Given the description of an element on the screen output the (x, y) to click on. 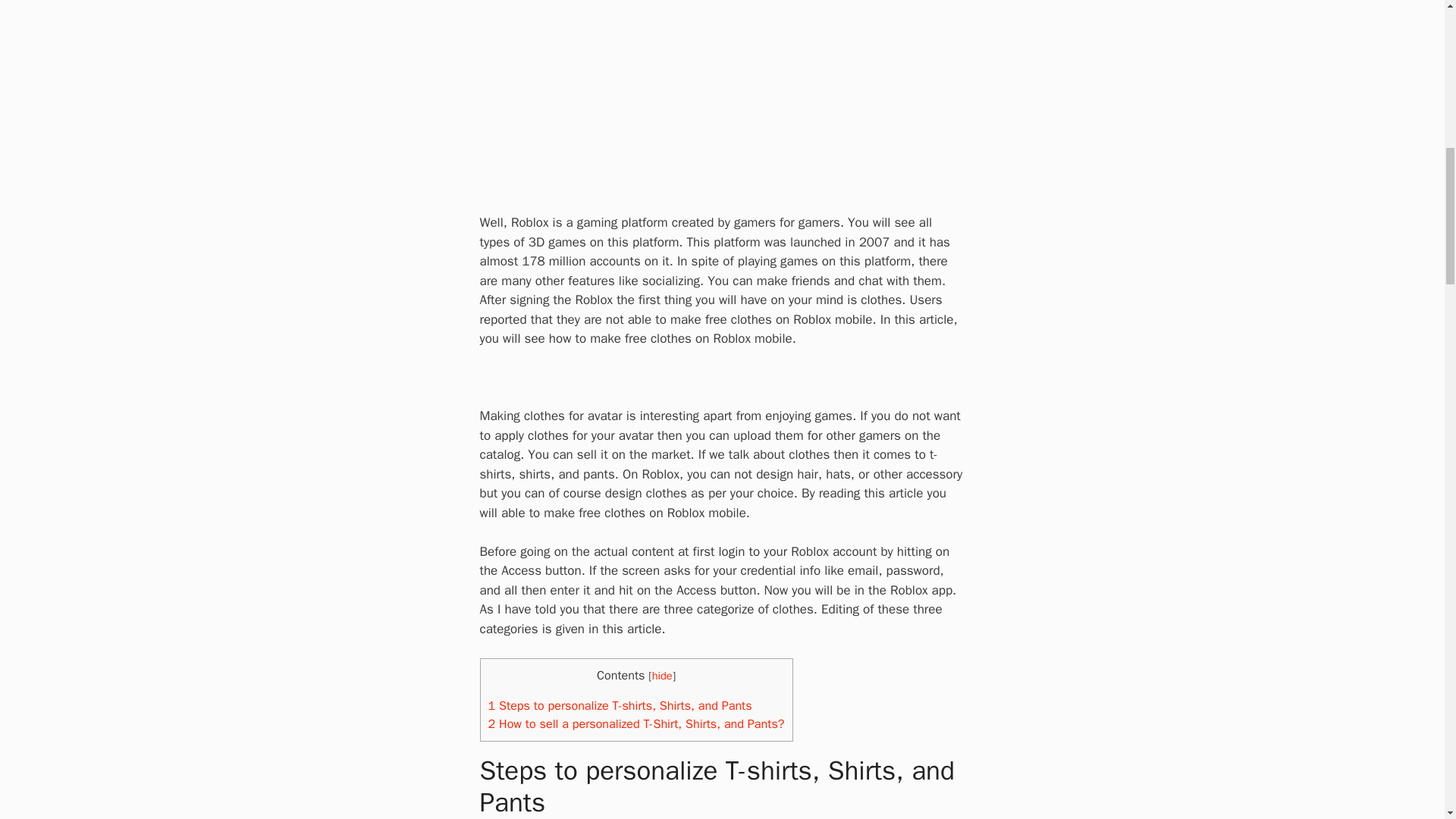
1 Steps to personalize T-shirts, Shirts, and Pants (619, 705)
hide (662, 675)
Advertisement (752, 94)
2 How to sell a personalized T-Shirt, Shirts, and Pants? (635, 723)
